Given the description of an element on the screen output the (x, y) to click on. 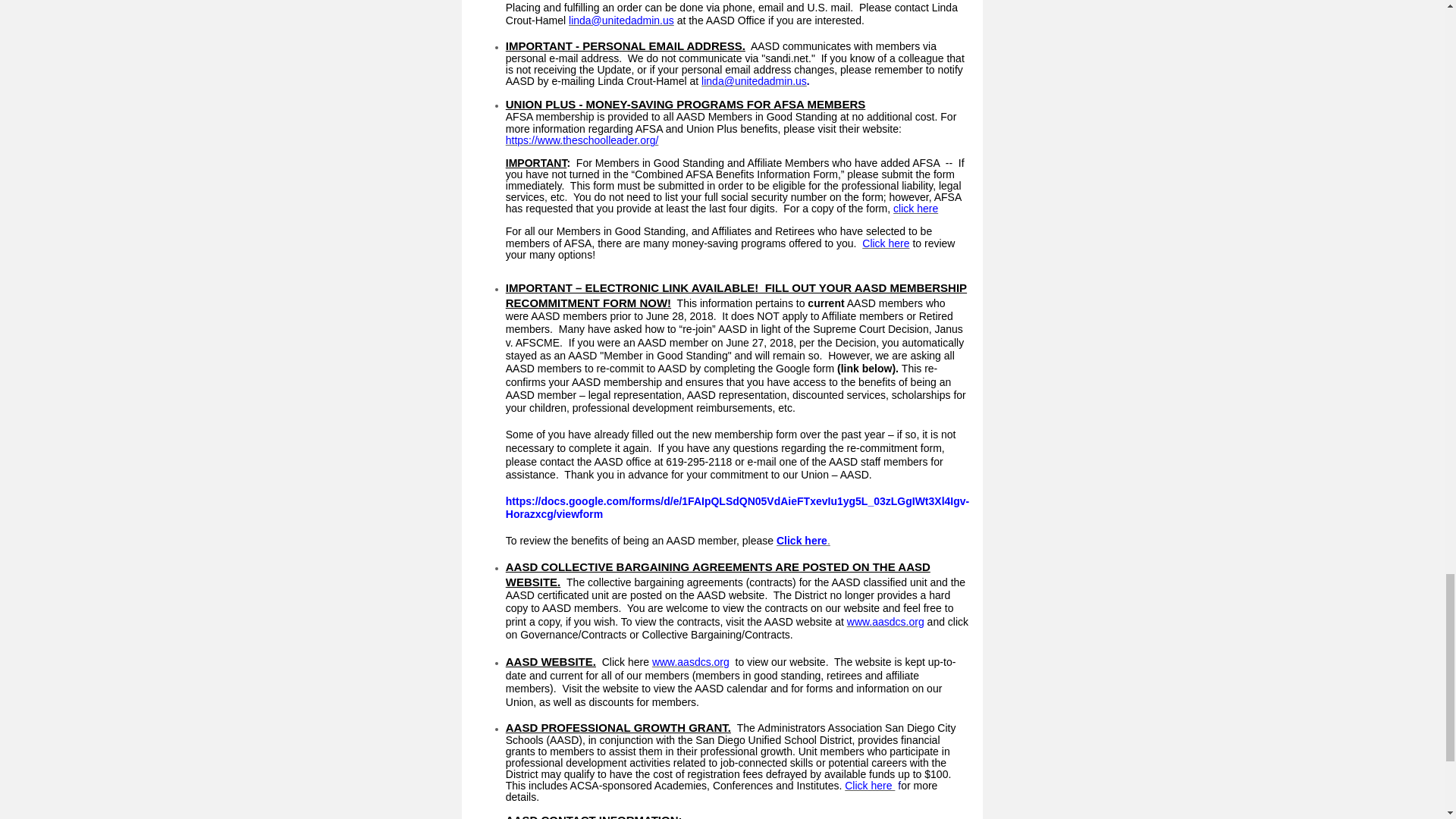
Click here (801, 540)
Click here (884, 243)
. (828, 540)
www.aasdcs.org (885, 621)
click here (915, 208)
Click here  (869, 785)
www.aasdcs.org (690, 662)
